Given the description of an element on the screen output the (x, y) to click on. 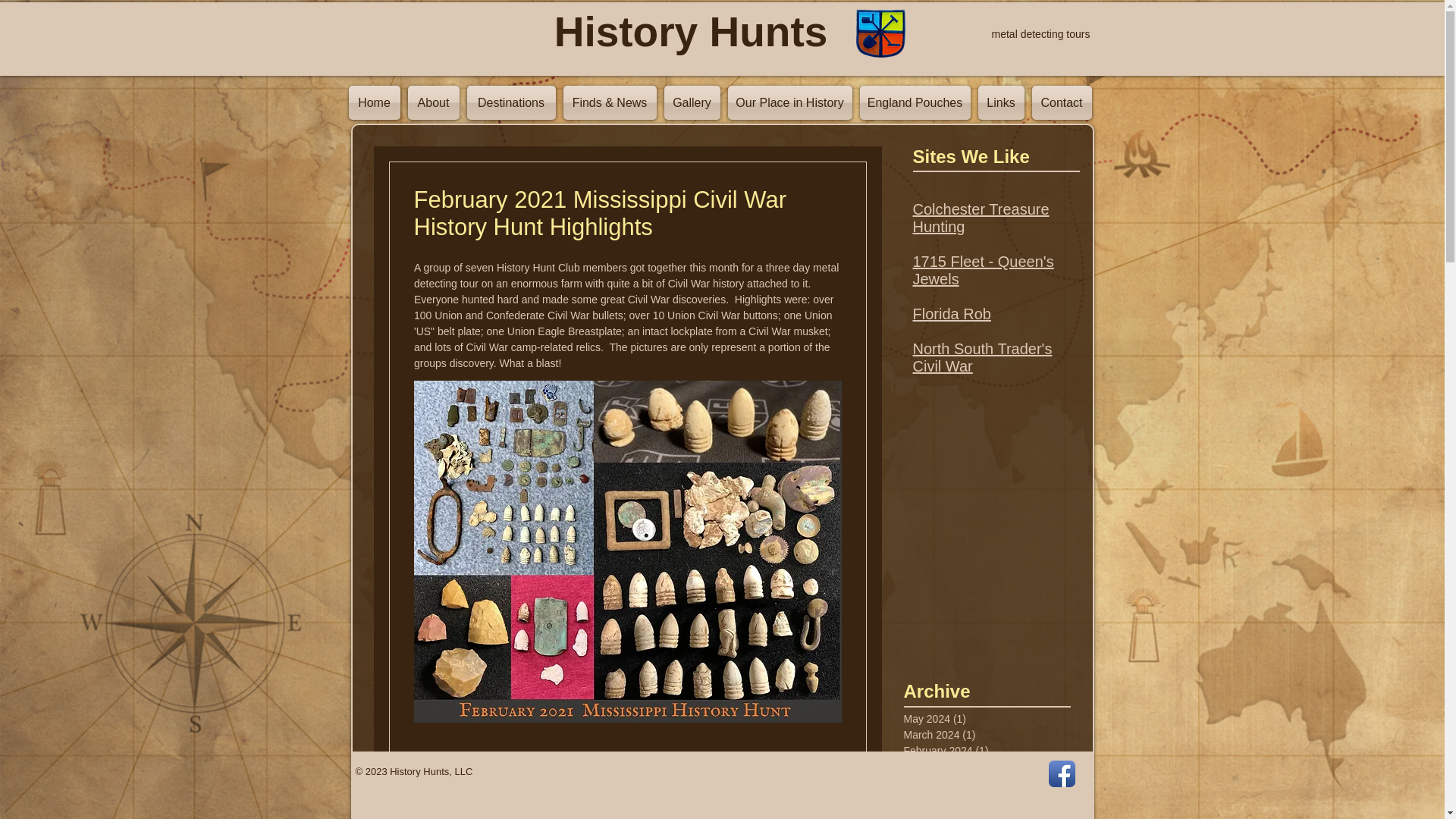
Gallery (691, 102)
North South Trader's Civil War (982, 357)
HHlogo.png (880, 33)
Our Place in History (789, 102)
Contact (1059, 102)
Destinations (511, 102)
Home (376, 102)
England Pouches (915, 102)
About (433, 102)
Links (1000, 102)
